Given the description of an element on the screen output the (x, y) to click on. 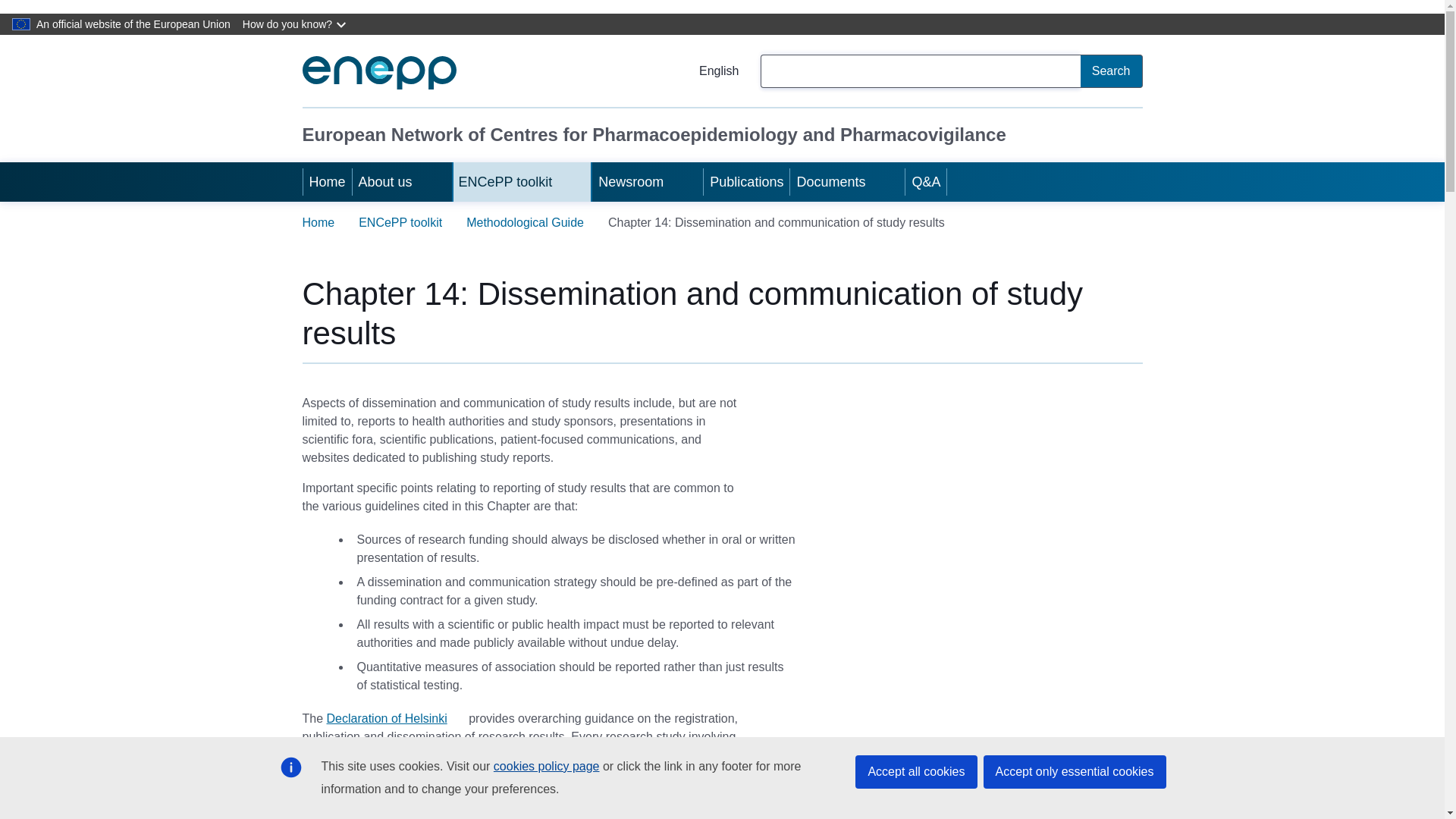
Home (327, 181)
How do you know? (295, 24)
Search (1111, 70)
English (706, 71)
Publications (746, 181)
ENCePP toolkit (504, 181)
Newsroom (629, 181)
About us (383, 181)
Accept all cookies (916, 771)
Documents (828, 181)
Accept only essential cookies (1074, 771)
cookies policy page (546, 766)
